Given the description of an element on the screen output the (x, y) to click on. 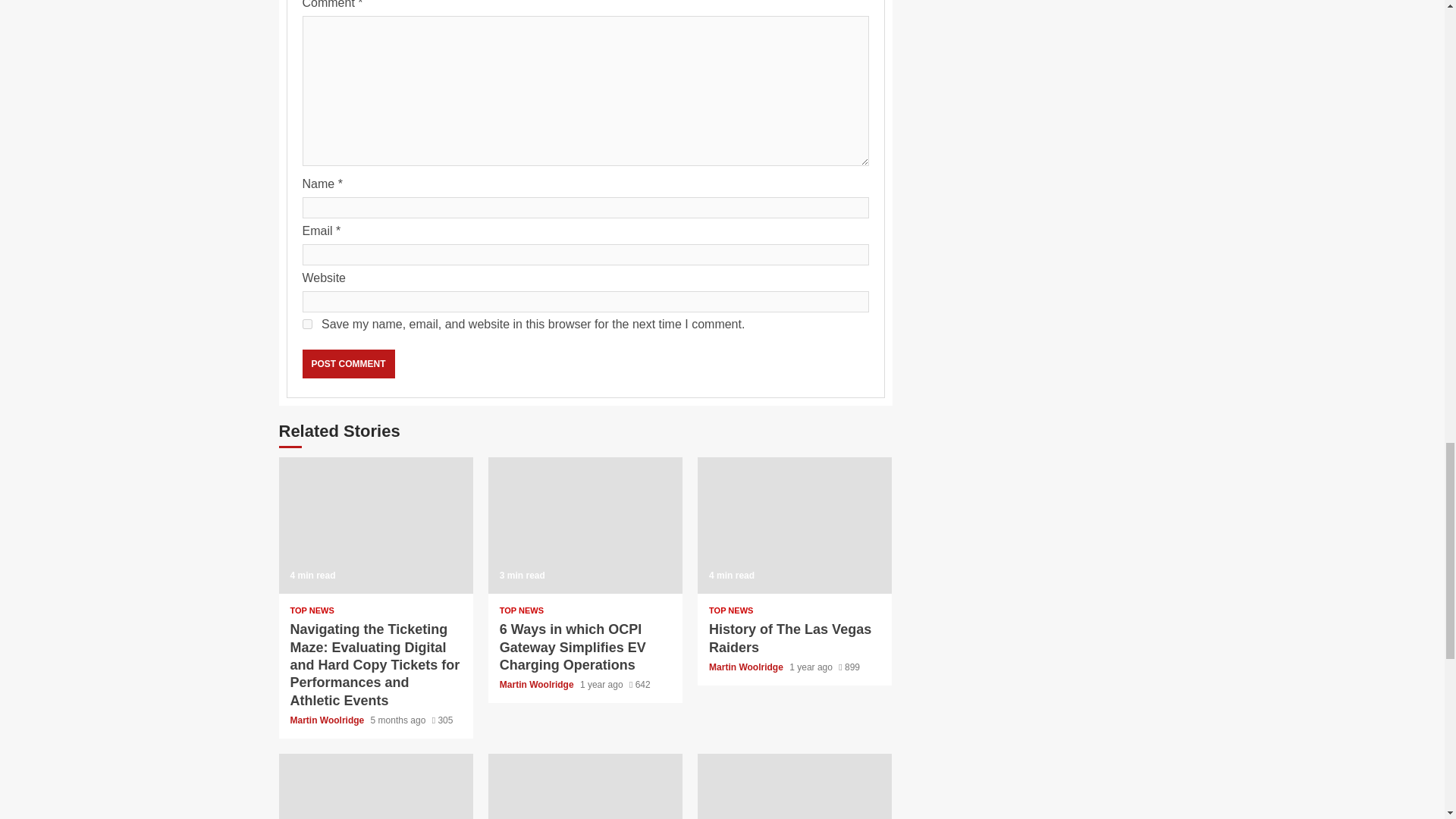
899 (849, 666)
Martin Woolridge (327, 719)
Martin Woolridge (747, 666)
TOP NEWS (311, 610)
Post Comment (347, 363)
History of The Las Vegas Raiders (789, 637)
TOP NEWS (521, 610)
History of The Las Vegas Raiders (794, 525)
305 (442, 719)
